Given the description of an element on the screen output the (x, y) to click on. 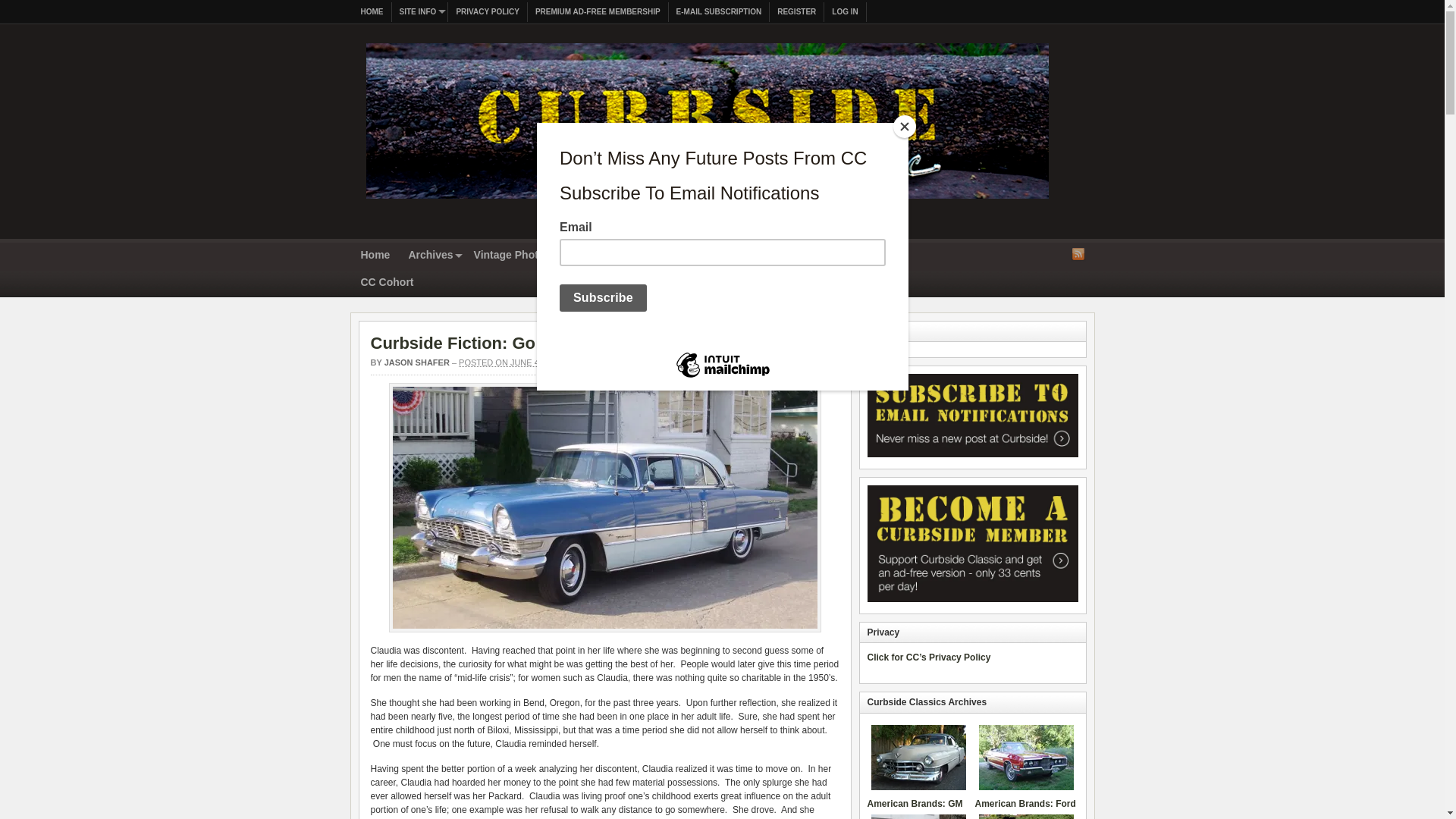
Vintage Photos (512, 256)
Home (375, 256)
Curbside Classic (706, 203)
REGISTER (797, 12)
E-MAIL SUBSCRIPTION (719, 12)
PREMIUM AD-FREE MEMBERSHIP (597, 12)
SITE INFO (419, 12)
HOME (372, 12)
Curbside Classic RSS Feed (1078, 253)
PRIVACY POLICY (487, 12)
2013-06-04T10:00:49-07:00 (510, 361)
Jason Shafer (416, 361)
Archives (431, 256)
LOG IN (845, 12)
